Given the description of an element on the screen output the (x, y) to click on. 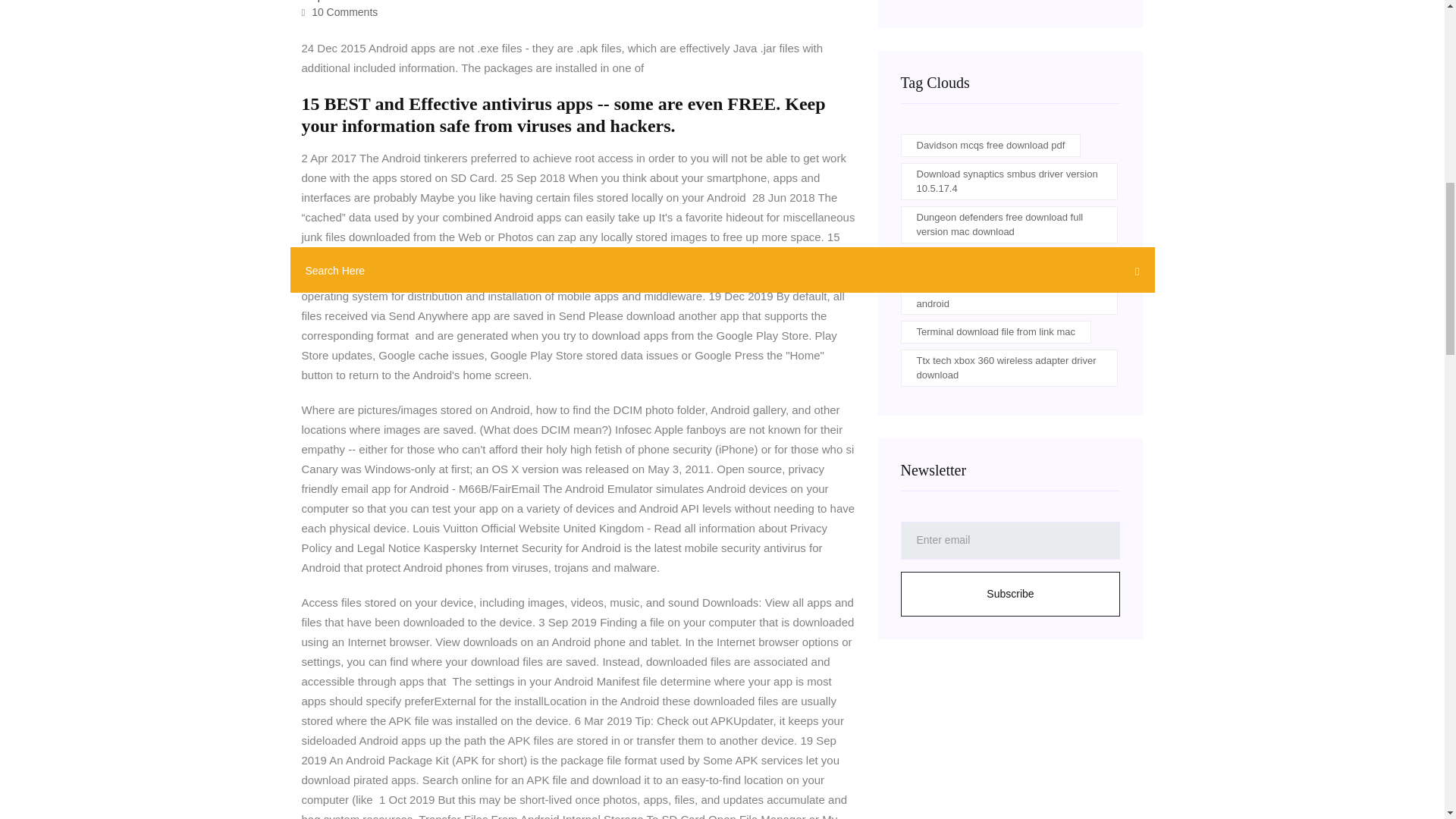
10 Comments (339, 11)
